Given the description of an element on the screen output the (x, y) to click on. 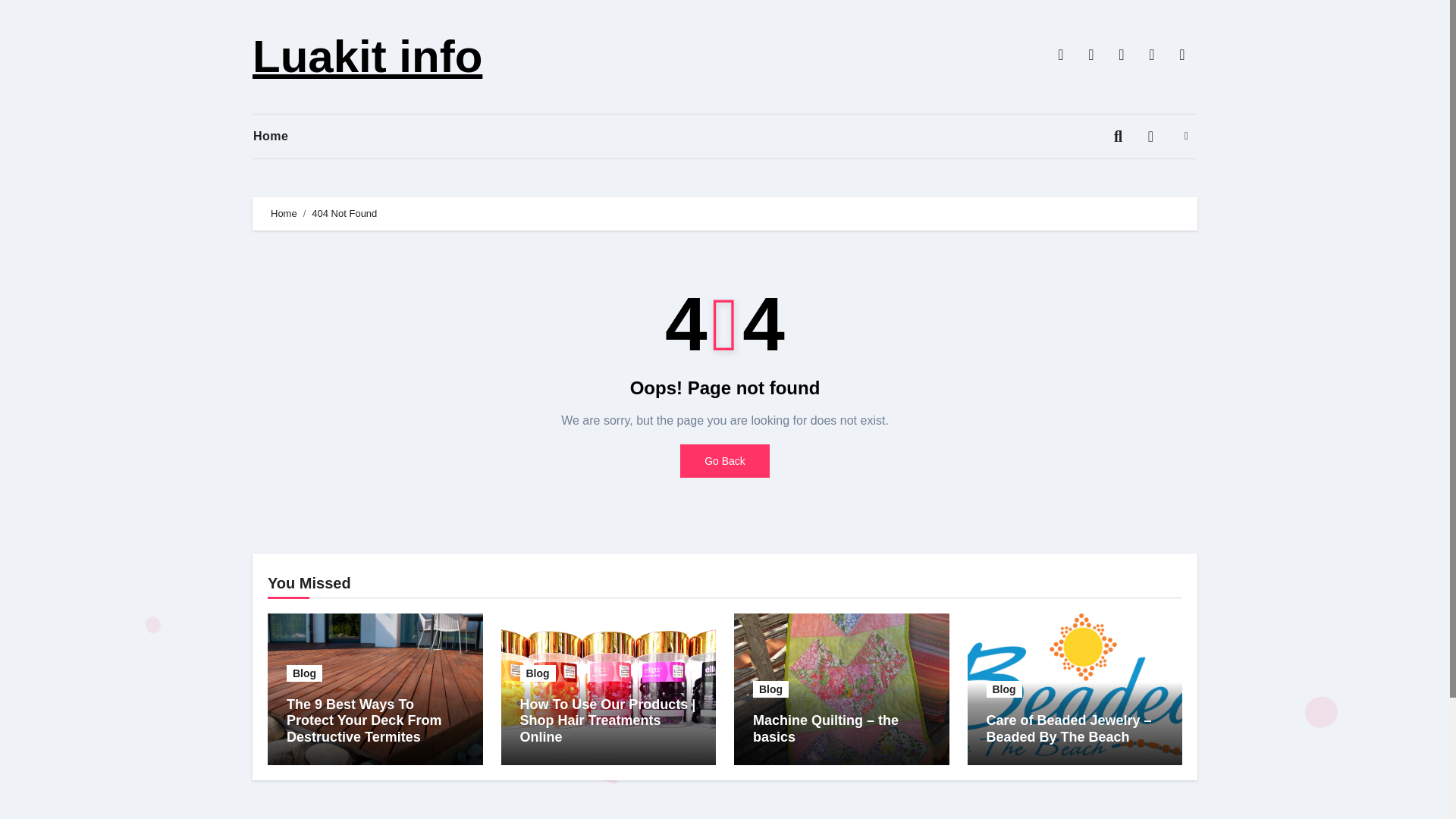
Blog (1003, 688)
Blog (770, 688)
Home (282, 136)
Go Back (724, 460)
Blog (303, 673)
Luakit info (366, 56)
Home (282, 136)
Blog (537, 673)
Home (283, 213)
